Given the description of an element on the screen output the (x, y) to click on. 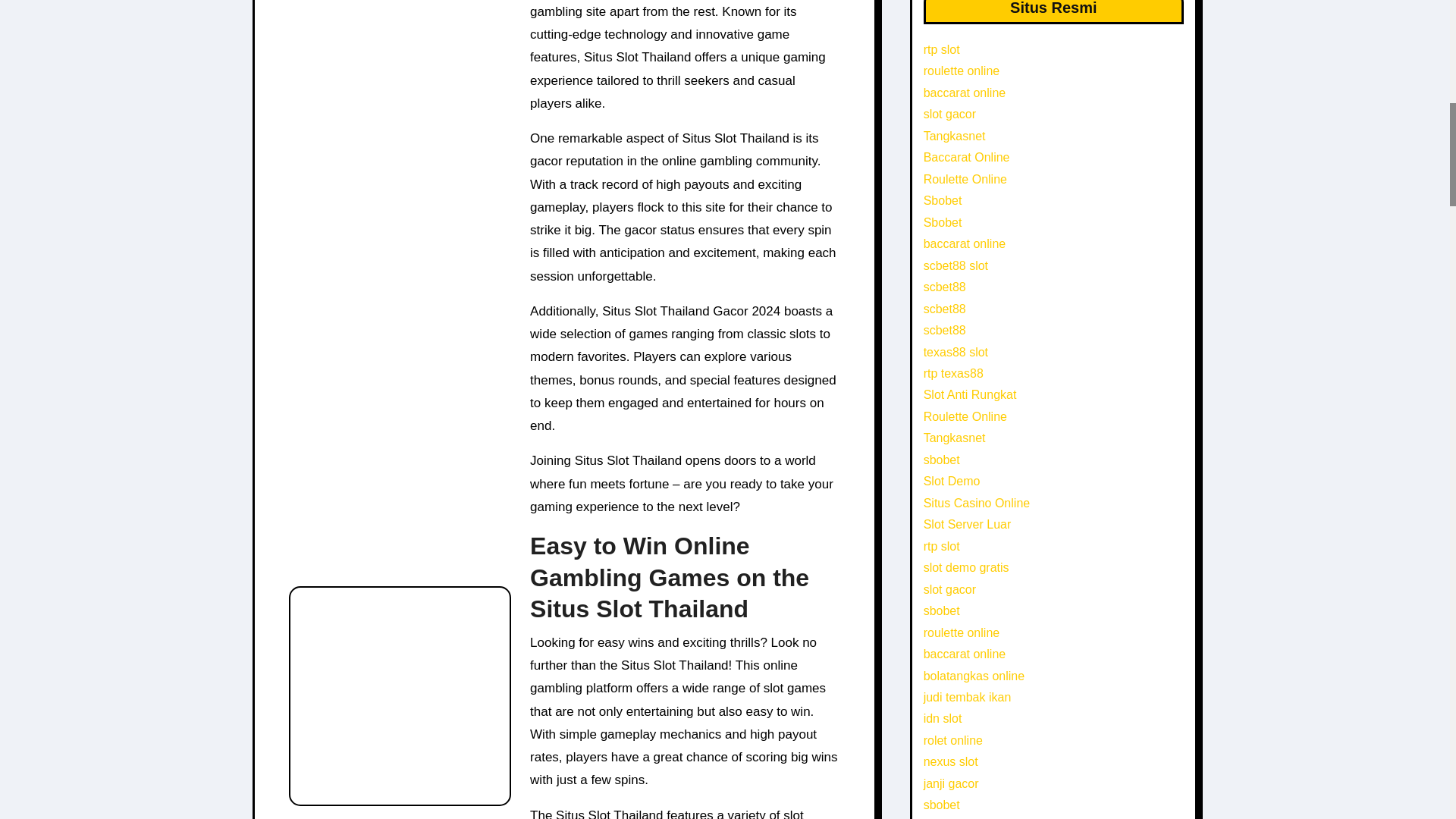
roulette online (961, 70)
rtp slot (941, 49)
